Given the description of an element on the screen output the (x, y) to click on. 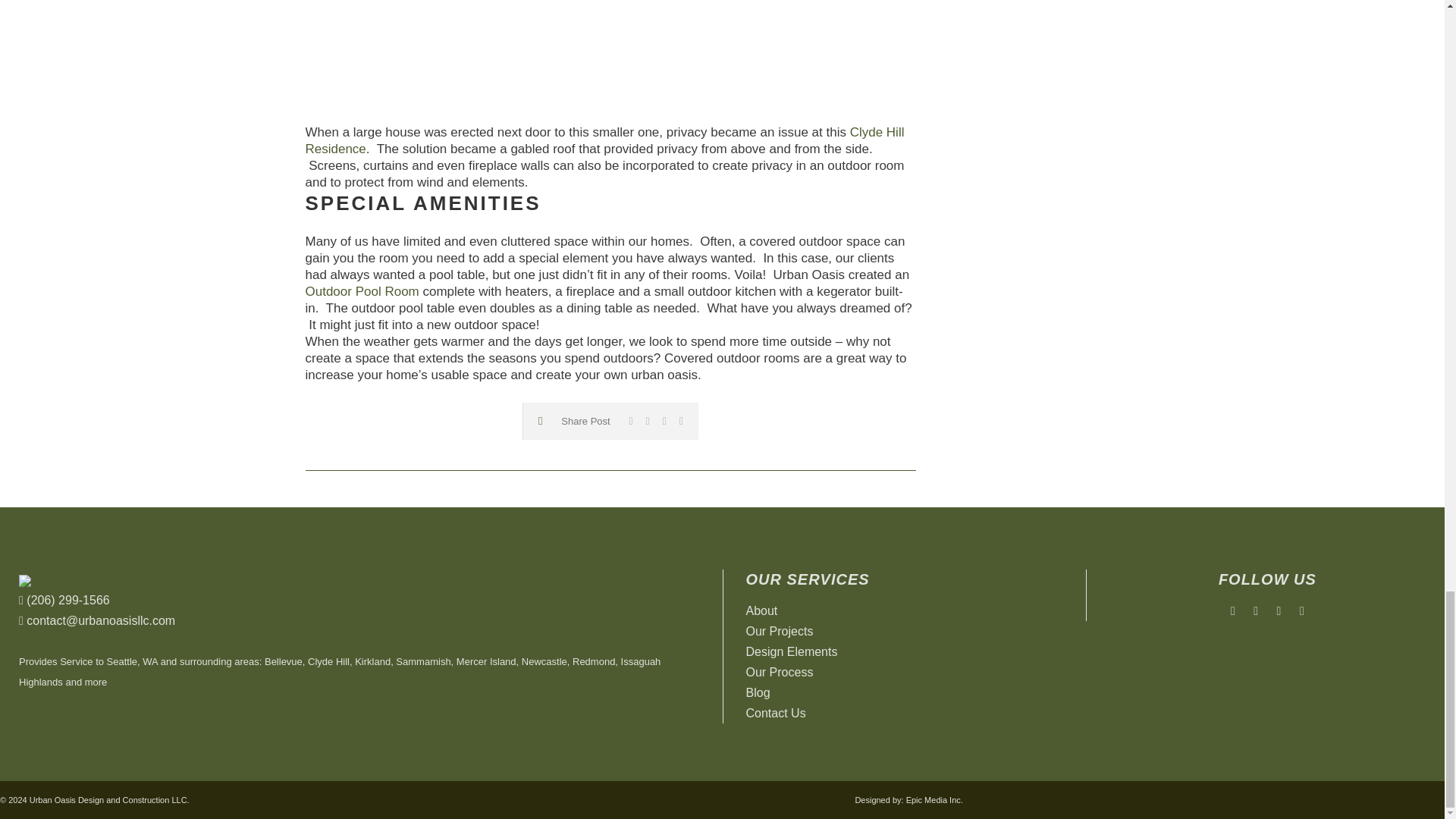
Share on Tumblr (664, 420)
Share on Pinterest (680, 420)
Share on Facebook (629, 420)
Share on Twitter (647, 420)
